Given the description of an element on the screen output the (x, y) to click on. 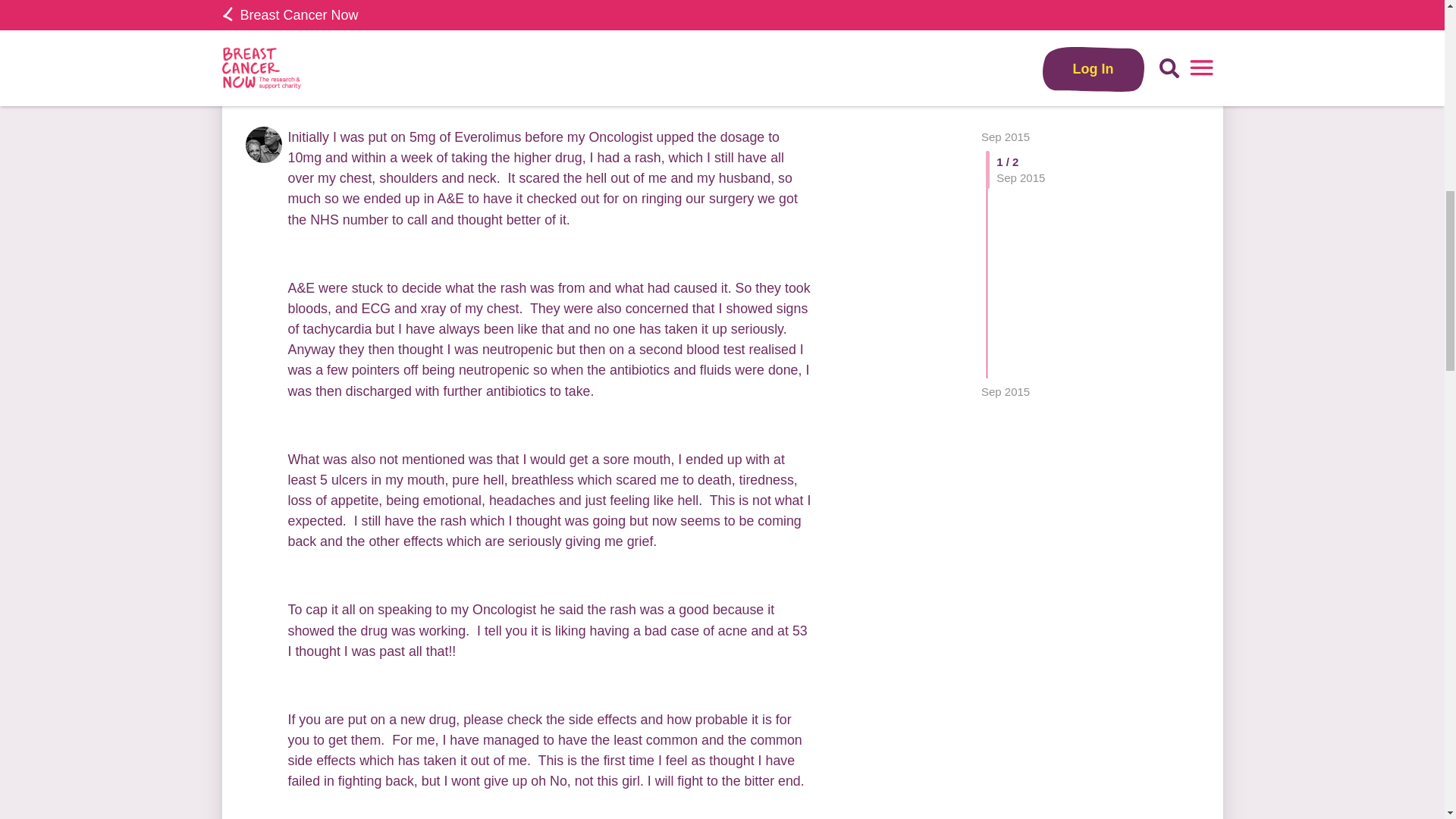
Sep 2015 (1005, 20)
13 Sep 2015 06:24 (1005, 20)
